Given the description of an element on the screen output the (x, y) to click on. 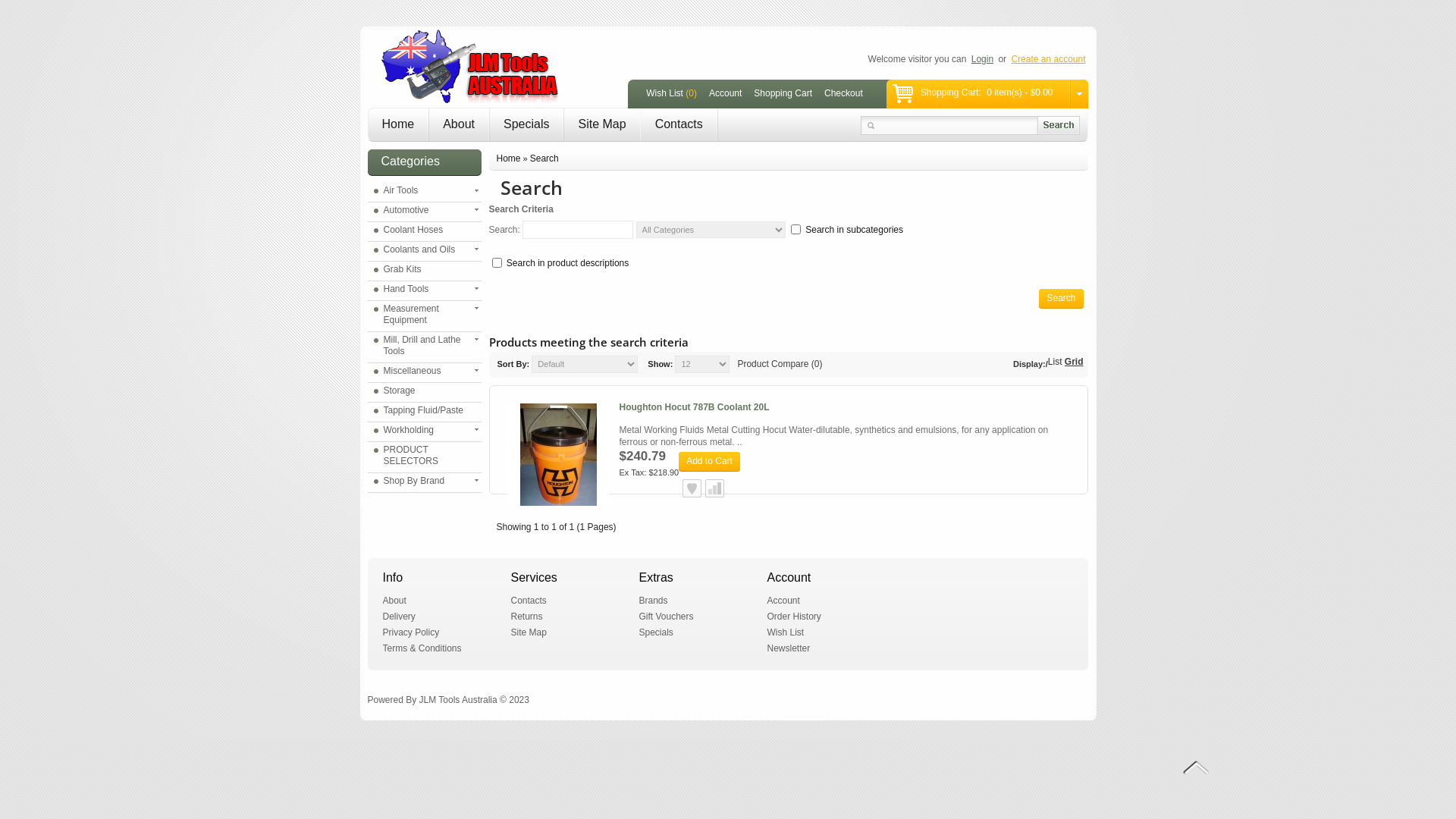
Login Element type: text (982, 58)
Search Element type: text (1060, 298)
Mill, Drill and Lathe Tools Element type: text (426, 345)
Checkout Element type: text (843, 93)
Workholding Element type: text (426, 430)
About Element type: text (393, 600)
Storage Element type: text (426, 390)
Miscellaneous Element type: text (426, 370)
Home Element type: text (507, 158)
Brands Element type: text (652, 600)
Specials Element type: text (525, 124)
Grab Kits Element type: text (426, 269)
Hand Tools Element type: text (426, 288)
Delivery Element type: text (398, 616)
Add to Compare Element type: text (714, 488)
Gift Vouchers Element type: text (665, 616)
Site Map Element type: text (528, 632)
JLM Tools Australia Element type: hover (470, 65)
Terms & Conditions Element type: text (421, 648)
Account Element type: text (783, 600)
Wish List (0) Element type: text (671, 93)
Grid Element type: text (1073, 361)
Contacts Element type: text (528, 600)
Search Element type: text (544, 158)
Add to Wish List Element type: text (691, 488)
Houghton Hocut 787B Coolant 20L Element type: text (693, 407)
Home Element type: text (398, 124)
Shopping Cart Element type: text (782, 93)
Returns Element type: text (526, 616)
Tapping Fluid/Paste Element type: text (426, 410)
0 item(s) - $0.00 Element type: text (1027, 96)
PRODUCT SELECTORS Element type: text (426, 455)
Automotive Element type: text (426, 210)
Measurement Equipment Element type: text (426, 314)
Wish List Element type: text (785, 632)
Houghton Hocut 787B Coolant 20L Element type: hover (558, 454)
Coolants and Oils Element type: text (426, 249)
Shop By Brand Element type: text (426, 480)
Newsletter Element type: text (788, 648)
Product Compare (0) Element type: text (779, 363)
Order History Element type: text (794, 616)
Coolant Hoses Element type: text (426, 229)
Contacts Element type: text (678, 124)
About Element type: text (458, 124)
Specials Element type: text (655, 632)
Air Tools Element type: text (426, 190)
Privacy Policy Element type: text (410, 632)
Account Element type: text (725, 93)
Create an account Element type: text (1047, 58)
Site Map Element type: text (601, 124)
Add to Cart Element type: text (709, 461)
